Given the description of an element on the screen output the (x, y) to click on. 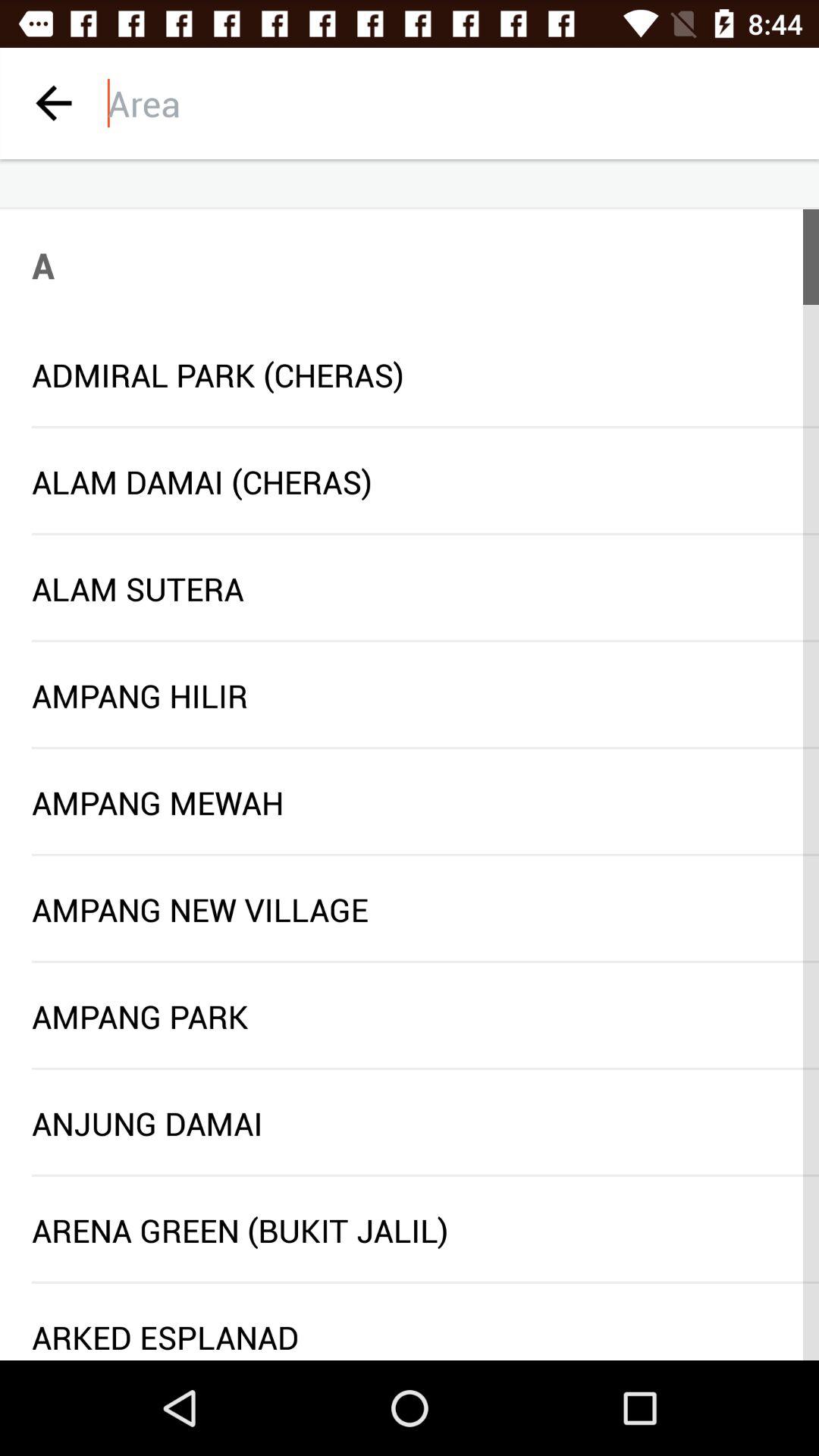
turn on the a (43, 265)
